Given the description of an element on the screen output the (x, y) to click on. 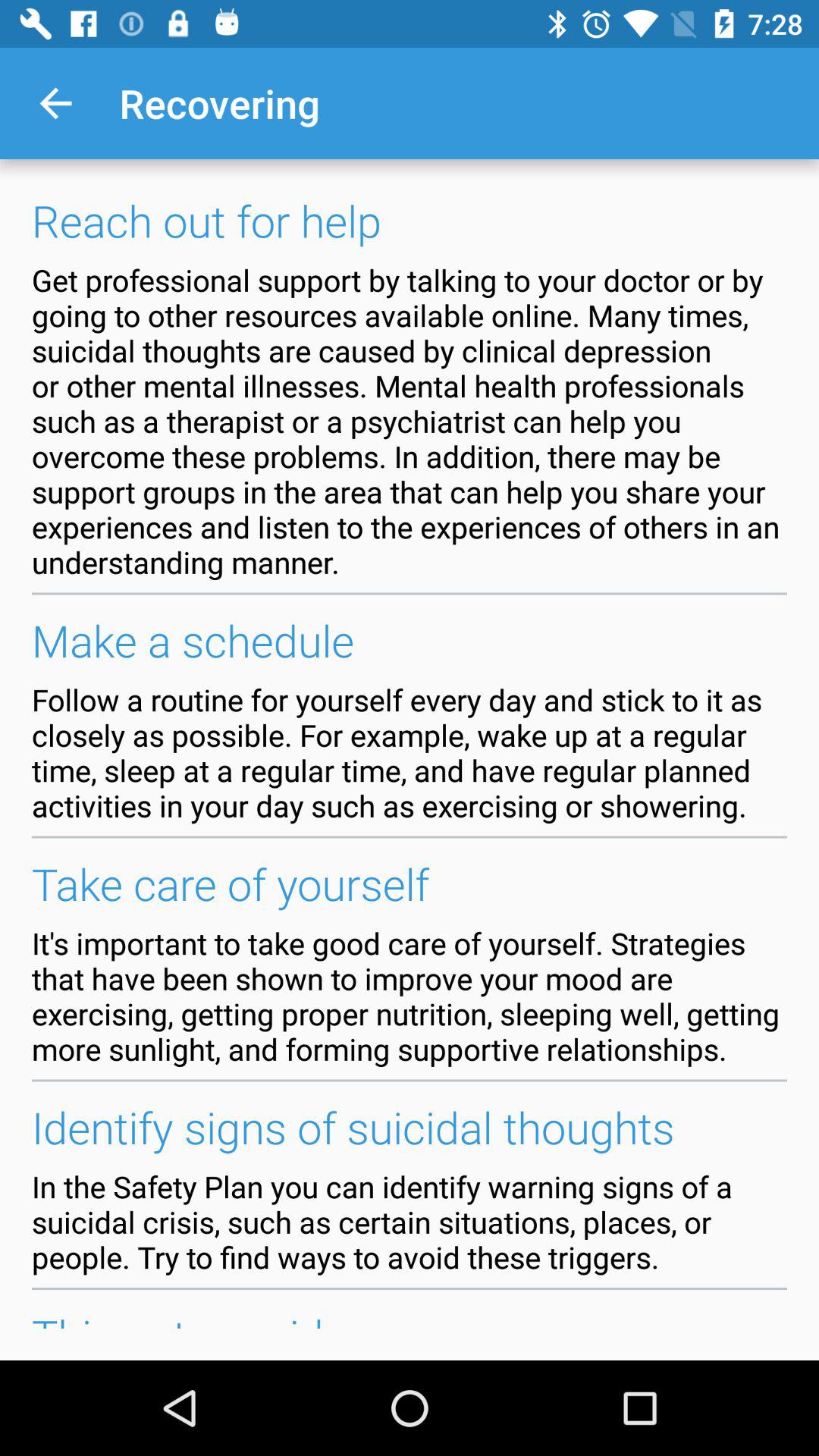
press the item next to recovering icon (55, 103)
